Given the description of an element on the screen output the (x, y) to click on. 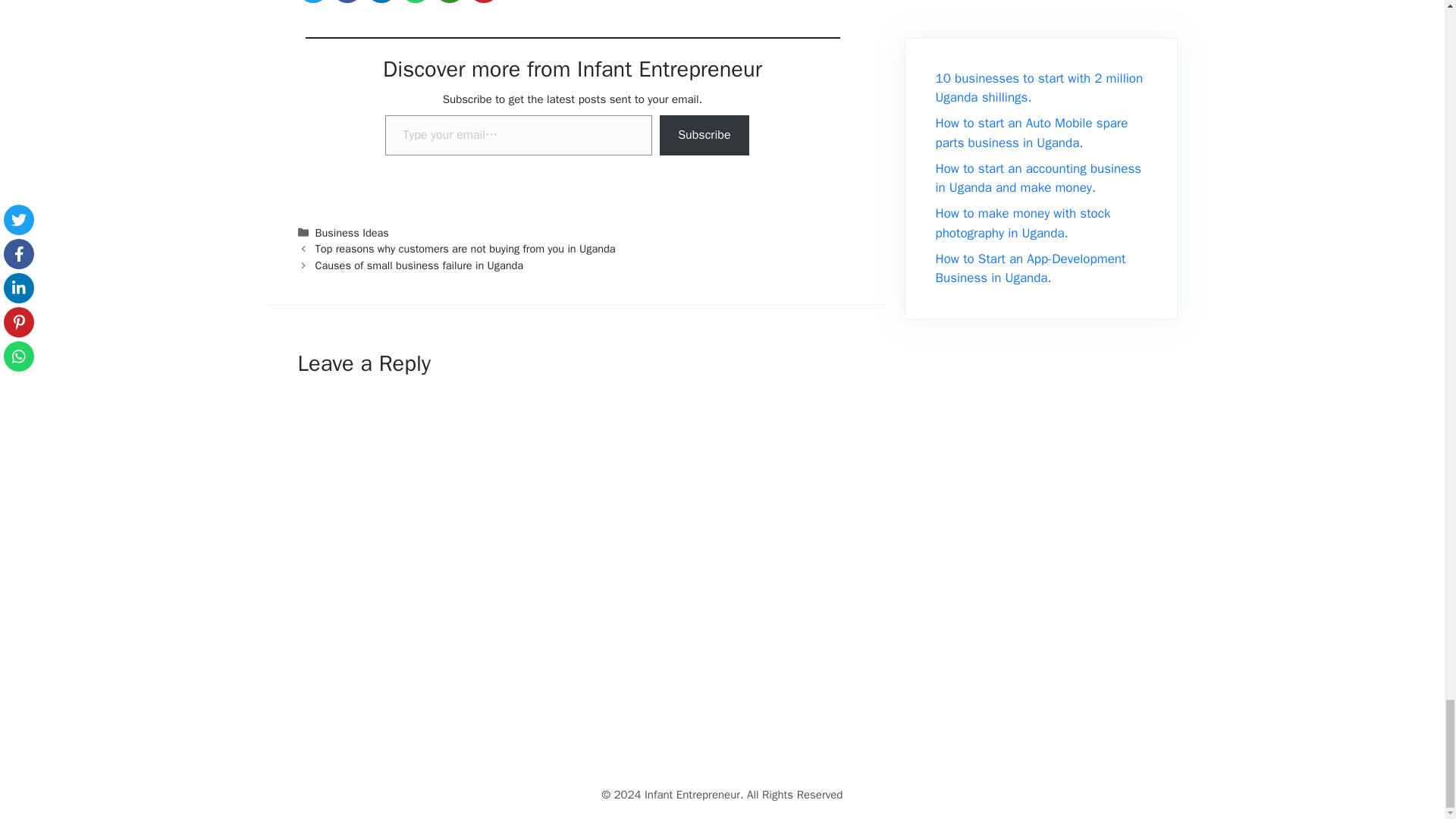
Business Ideas (351, 232)
Causes of small business failure in Uganda (419, 264)
Top reasons why customers are not buying from you in Uganda (465, 248)
Please fill in this field. (518, 135)
Subscribe (703, 135)
